Given the description of an element on the screen output the (x, y) to click on. 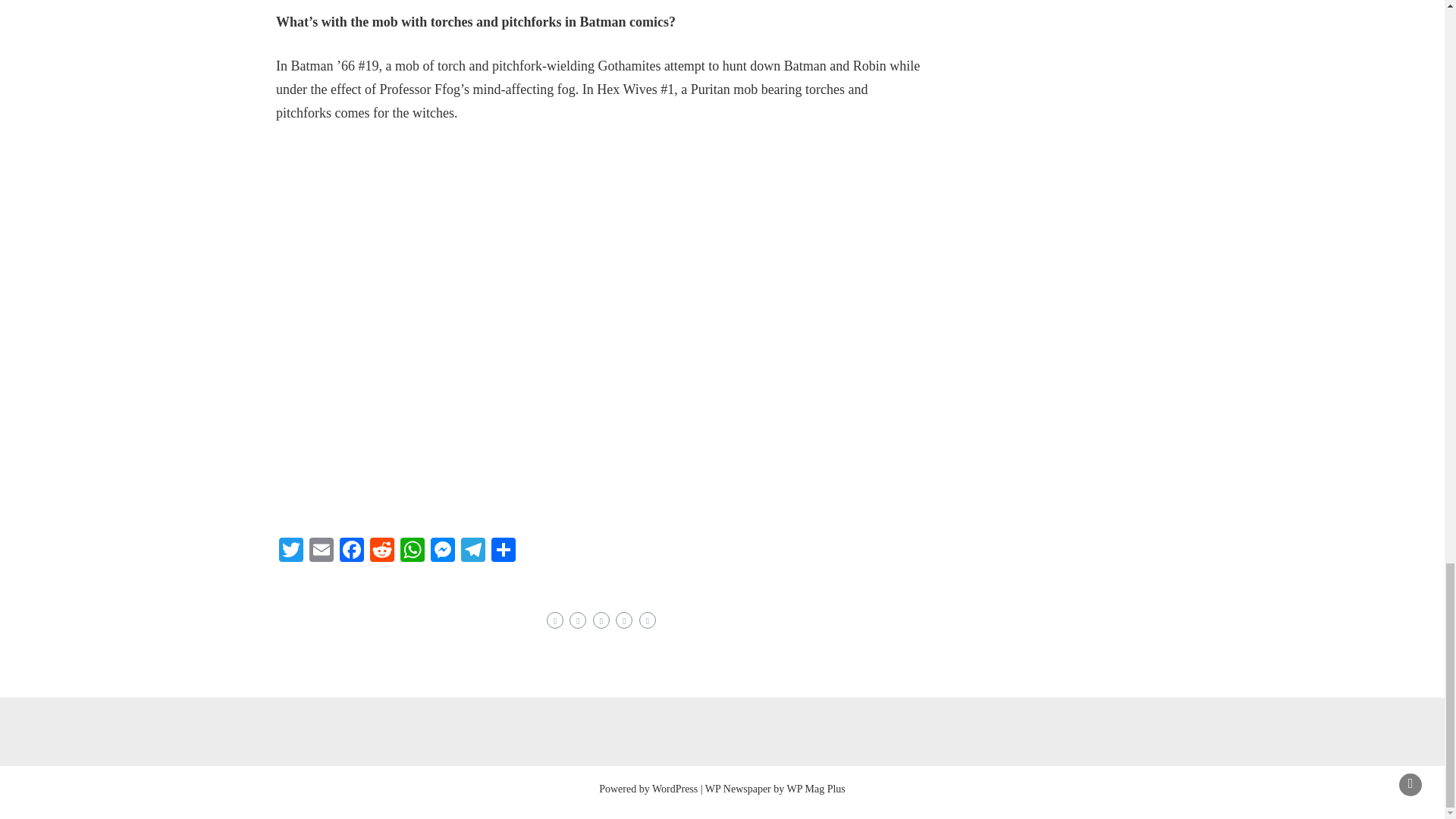
Messenger (443, 551)
Facebook (351, 551)
WhatsApp (412, 551)
WhatsApp (412, 551)
Messenger (443, 551)
Telegram (472, 551)
Email (320, 551)
Facebook (351, 551)
Twitter (290, 551)
Twitter (290, 551)
